Given the description of an element on the screen output the (x, y) to click on. 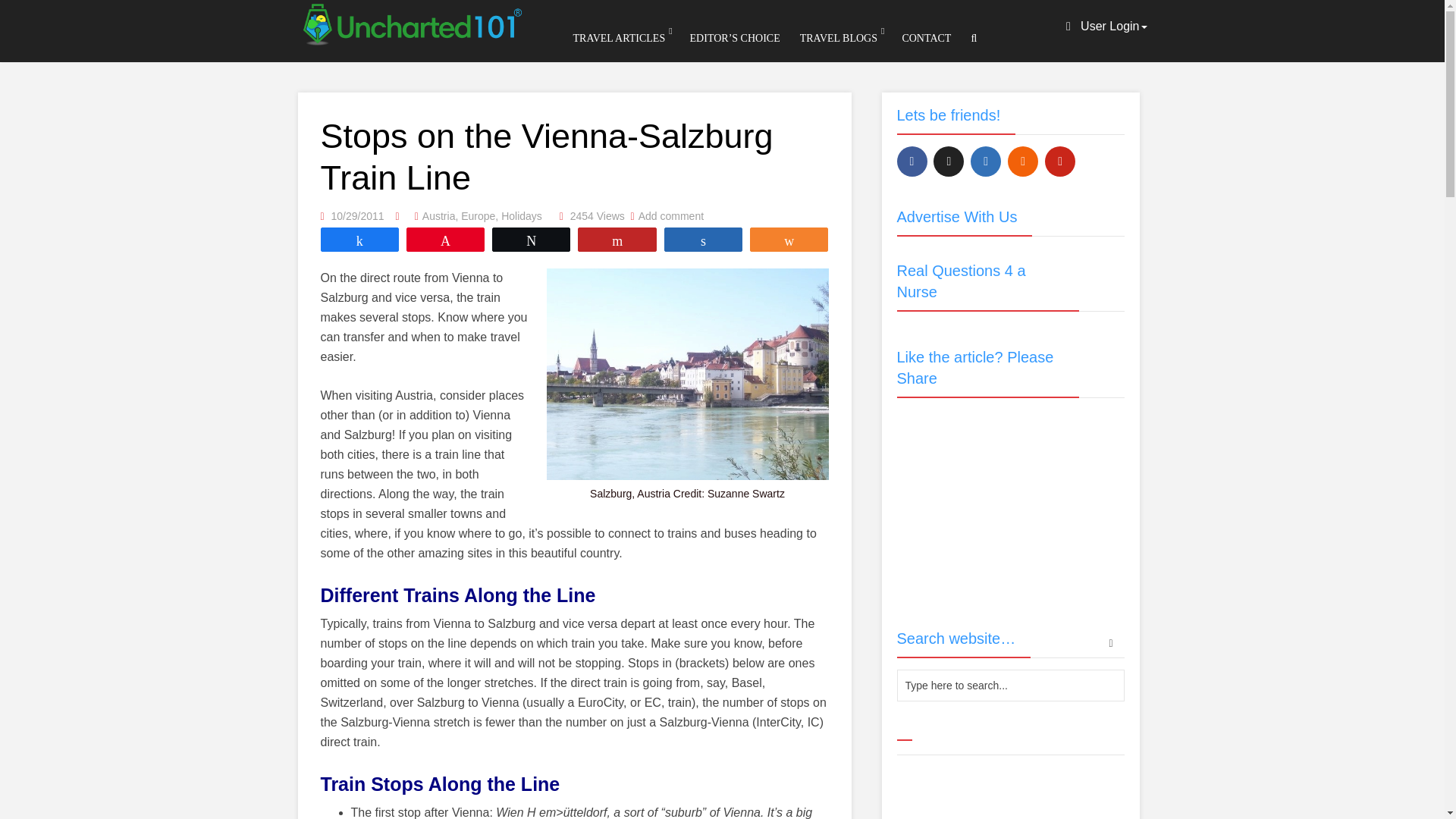
Austria (438, 215)
TRAVEL ARTICLES (618, 38)
RSS (1022, 161)
Type here to search... (1010, 685)
Facebook (911, 161)
Holidays (520, 215)
TRAVEL BLOGS (838, 38)
Uncharted101.com (410, 21)
Type here to search... (1010, 685)
Add comment (671, 215)
